Given the description of an element on the screen output the (x, y) to click on. 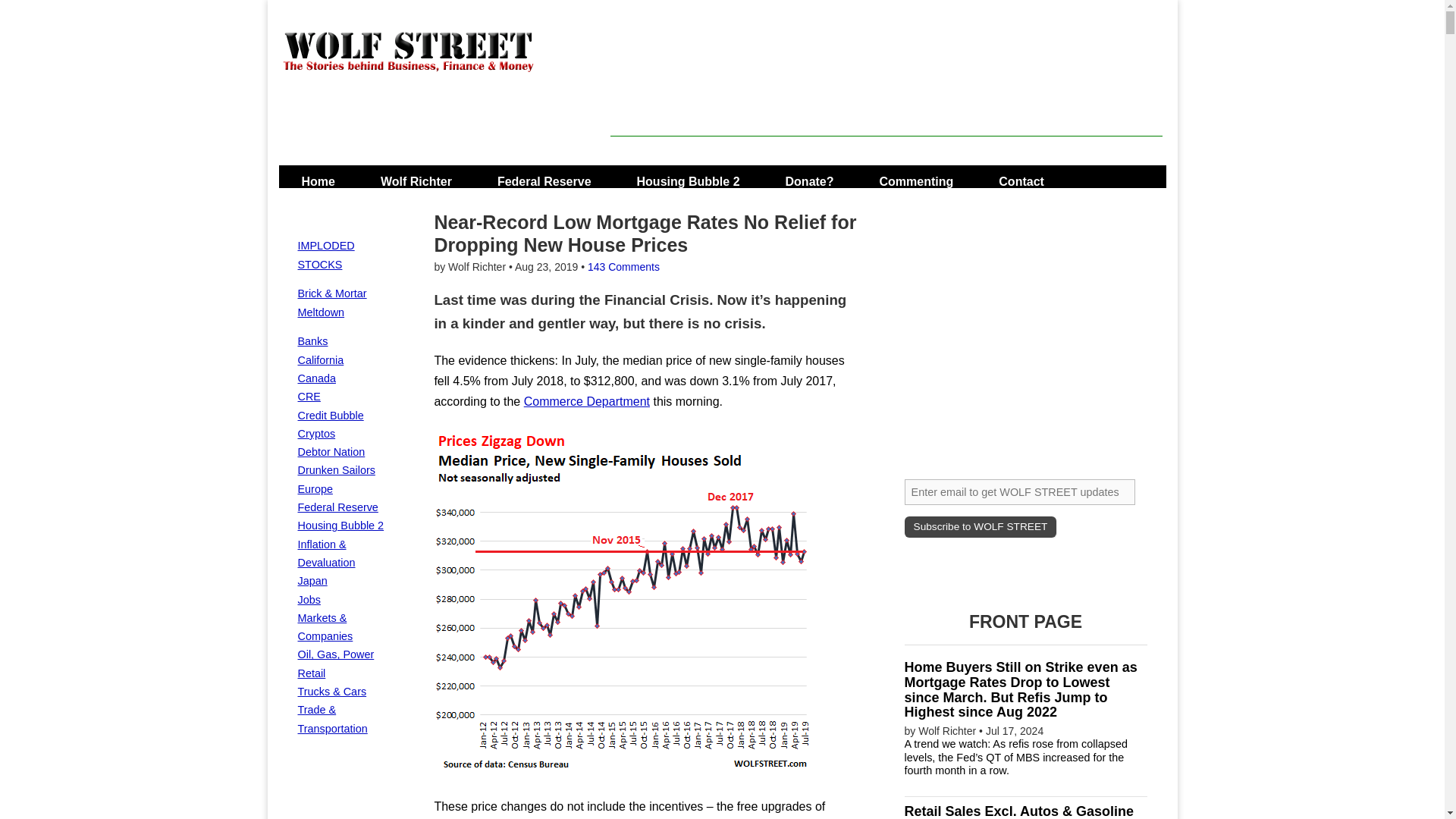
Jobs (308, 599)
View all posts filed under California Daydreaming (320, 359)
Canada (315, 378)
Housing Bubble 2 (340, 525)
Credit Bubble (329, 415)
California (320, 359)
IMPLODED STOCKS (325, 254)
Cryptos (315, 433)
Banks (312, 340)
Skip to content (322, 175)
Advertisement (885, 101)
143 Comments (623, 266)
Drunken Sailors (335, 469)
Europe (314, 489)
Wolf Richter (416, 175)
